Given the description of an element on the screen output the (x, y) to click on. 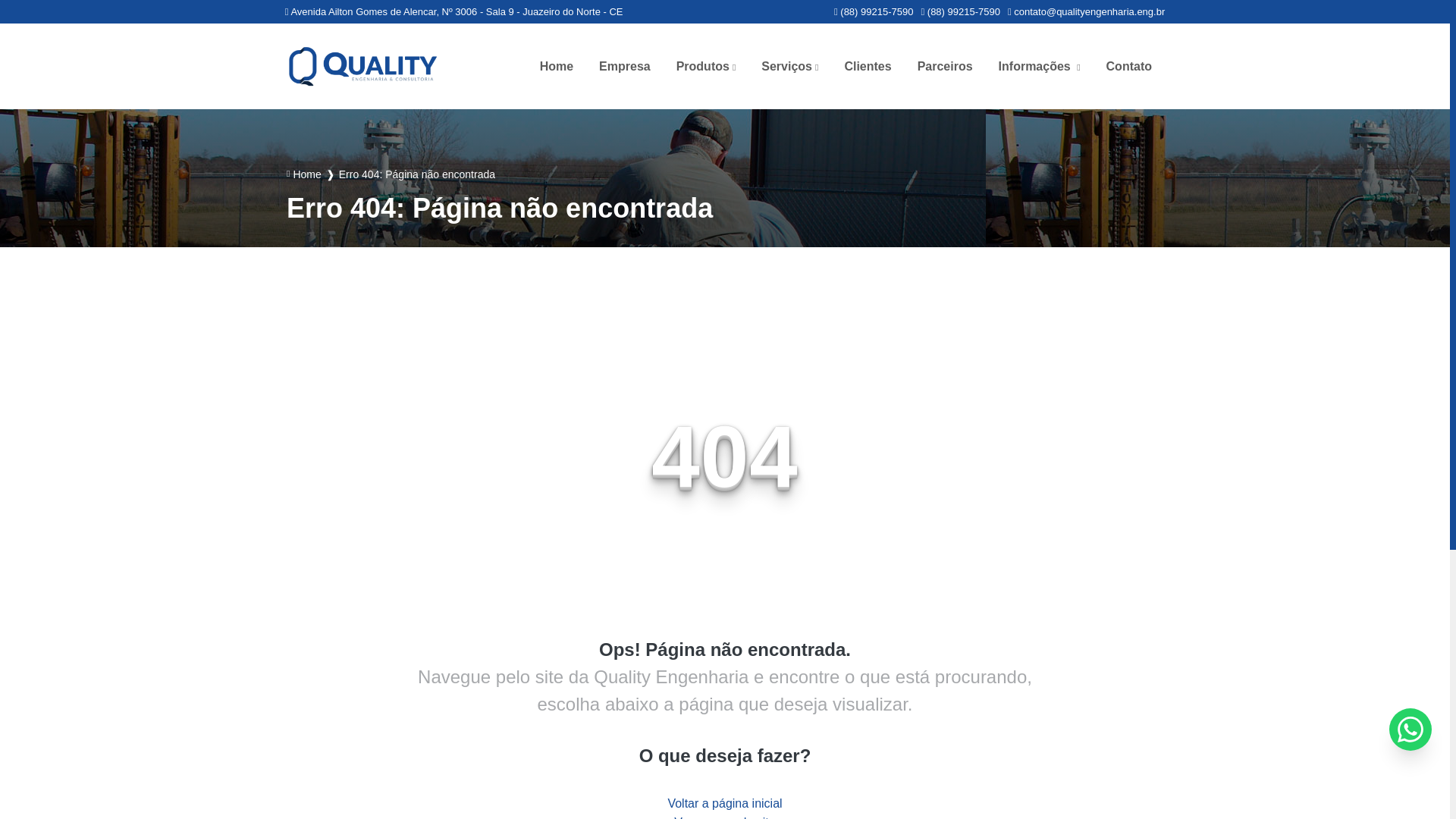
Home (556, 66)
Whatsapp Quality Engenharia (960, 11)
Empresa (625, 66)
Home (556, 66)
Empresa (625, 66)
Clientes (867, 66)
Envie um e-mail (1085, 11)
Clique e ligue (874, 11)
Parceiros (944, 66)
Produtos (706, 66)
Produtos (706, 66)
